Given the description of an element on the screen output the (x, y) to click on. 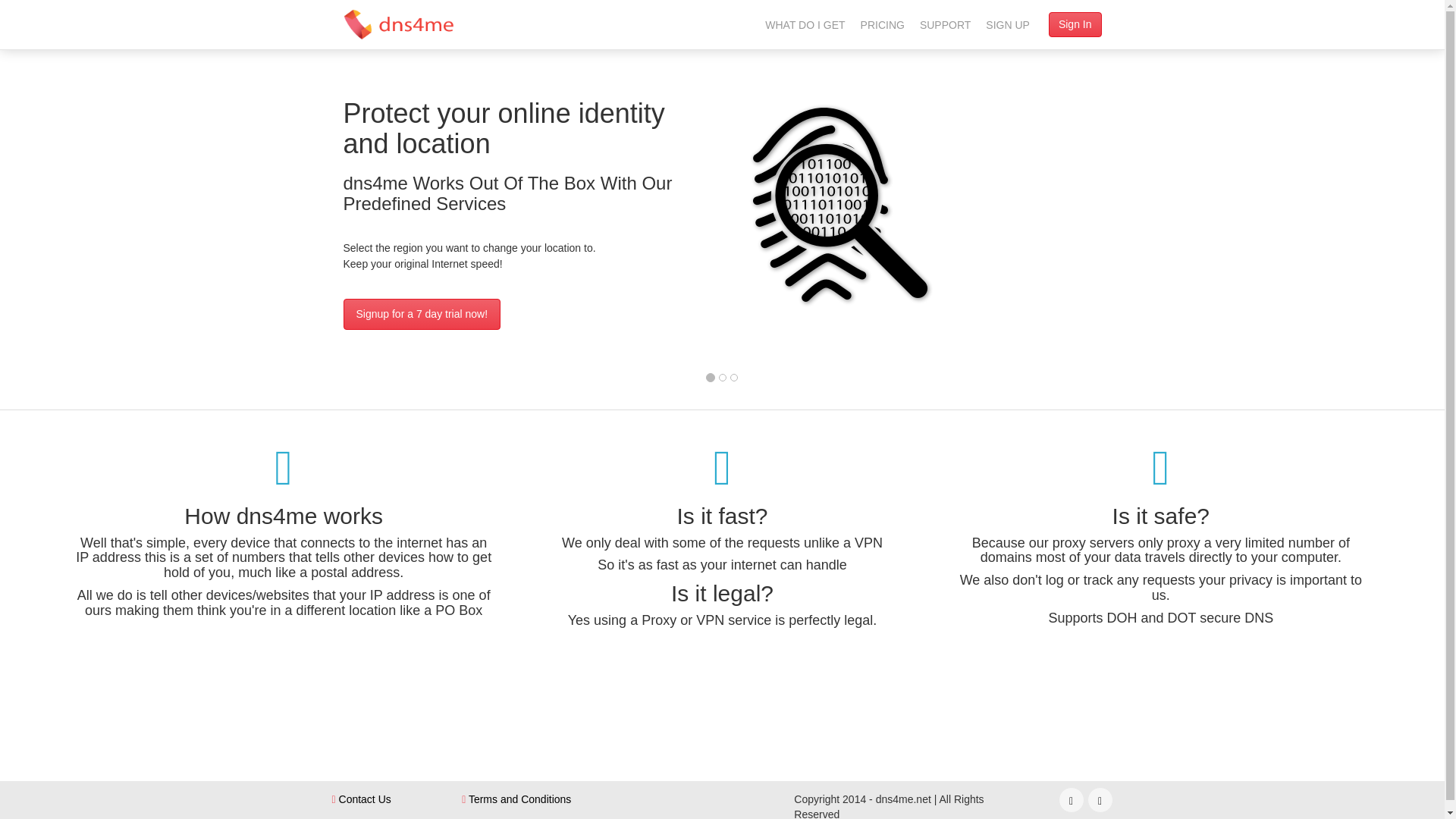
WHAT DO I GET (804, 24)
Terms and Conditions (515, 799)
Contact Us (361, 799)
SUPPORT (945, 24)
PRICING (882, 24)
Sign In (1075, 24)
SIGN UP (1007, 24)
